Given the description of an element on the screen output the (x, y) to click on. 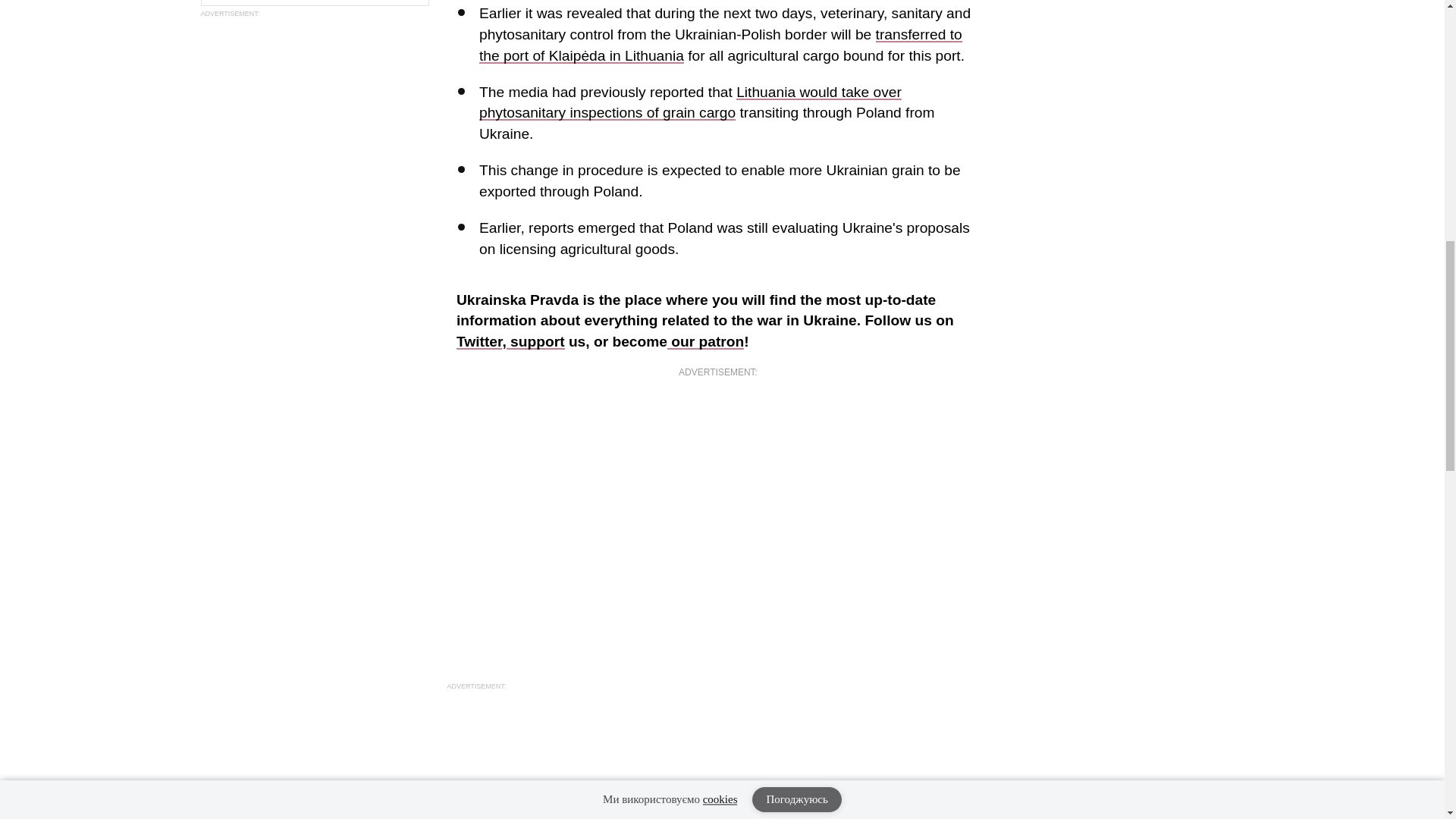
Twitter (705, 352)
our patron (705, 341)
3rd party ad content (717, 765)
support (535, 341)
3rd party ad content (314, 142)
